Given the description of an element on the screen output the (x, y) to click on. 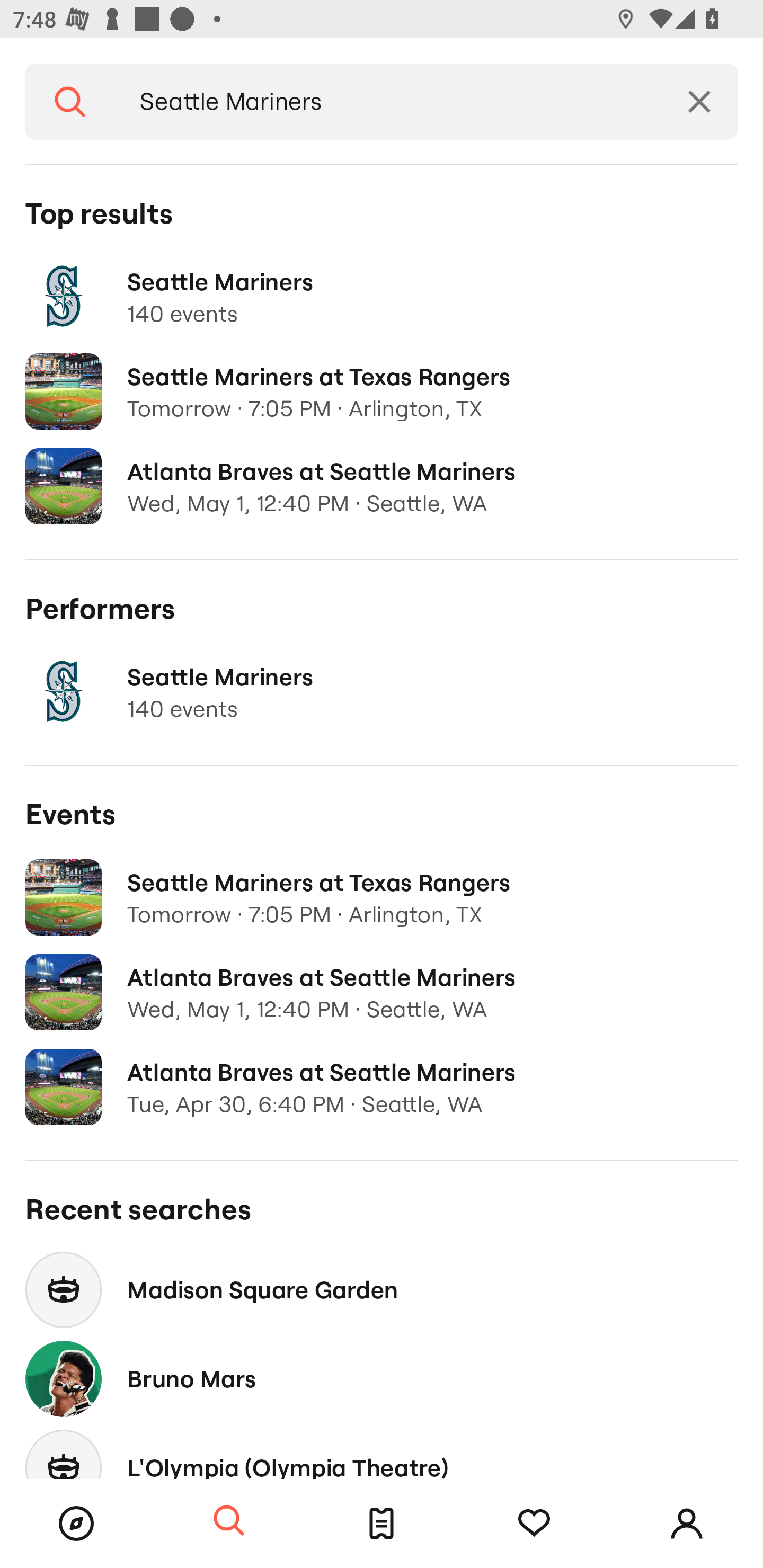
Search (69, 101)
Seattle Mariners (387, 101)
Clear (699, 101)
Seattle Mariners 140 events (381, 296)
Seattle Mariners 140 events (381, 692)
Madison Square Garden (381, 1289)
Bruno Mars (381, 1378)
L'Olympia (Olympia Theatre) (381, 1450)
Browse (76, 1523)
Search (228, 1521)
Tickets (381, 1523)
Tracking (533, 1523)
Account (686, 1523)
